Given the description of an element on the screen output the (x, y) to click on. 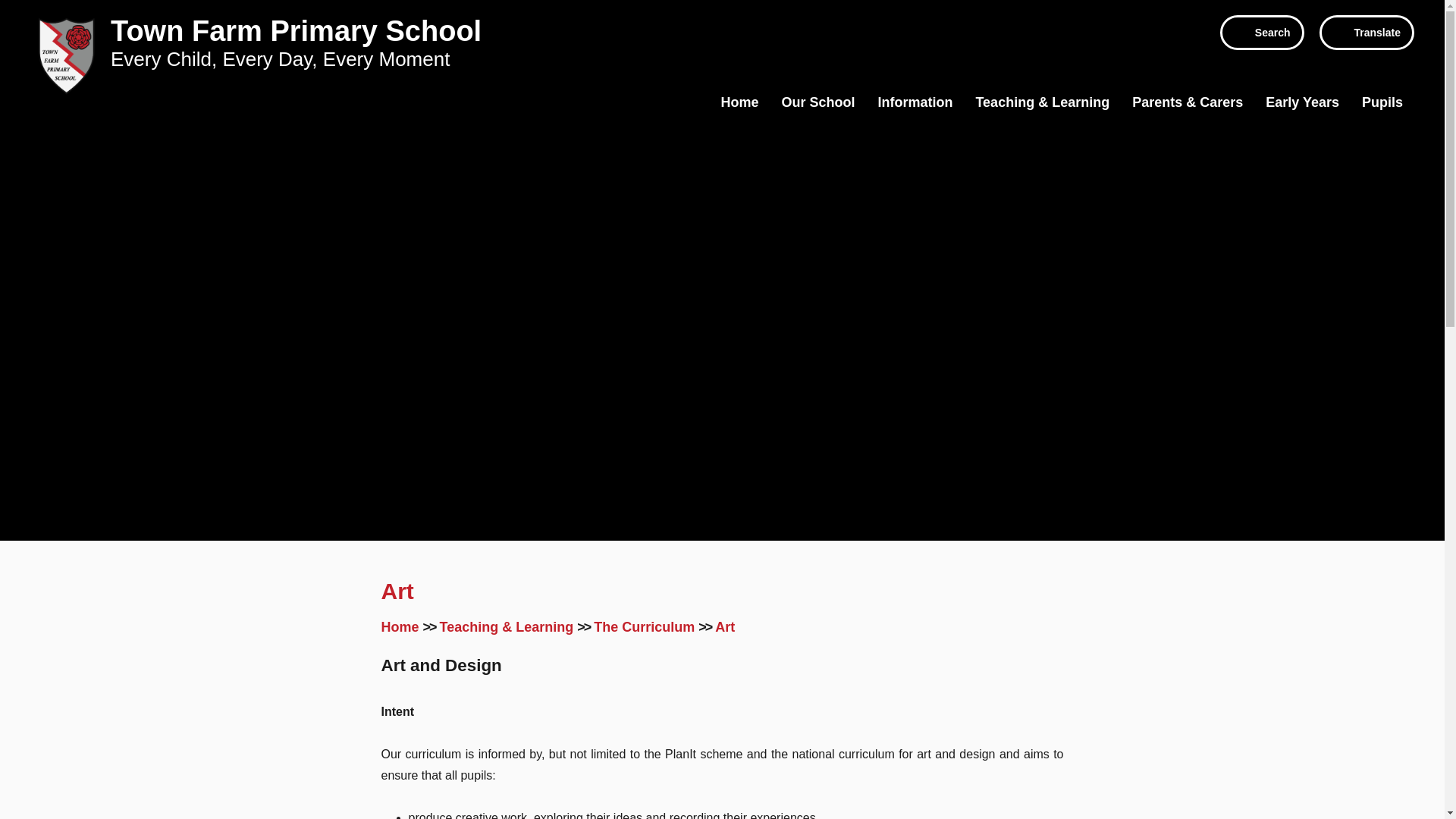
Translate (1366, 32)
Our School (818, 102)
Home (739, 102)
Search (1262, 32)
